Given the description of an element on the screen output the (x, y) to click on. 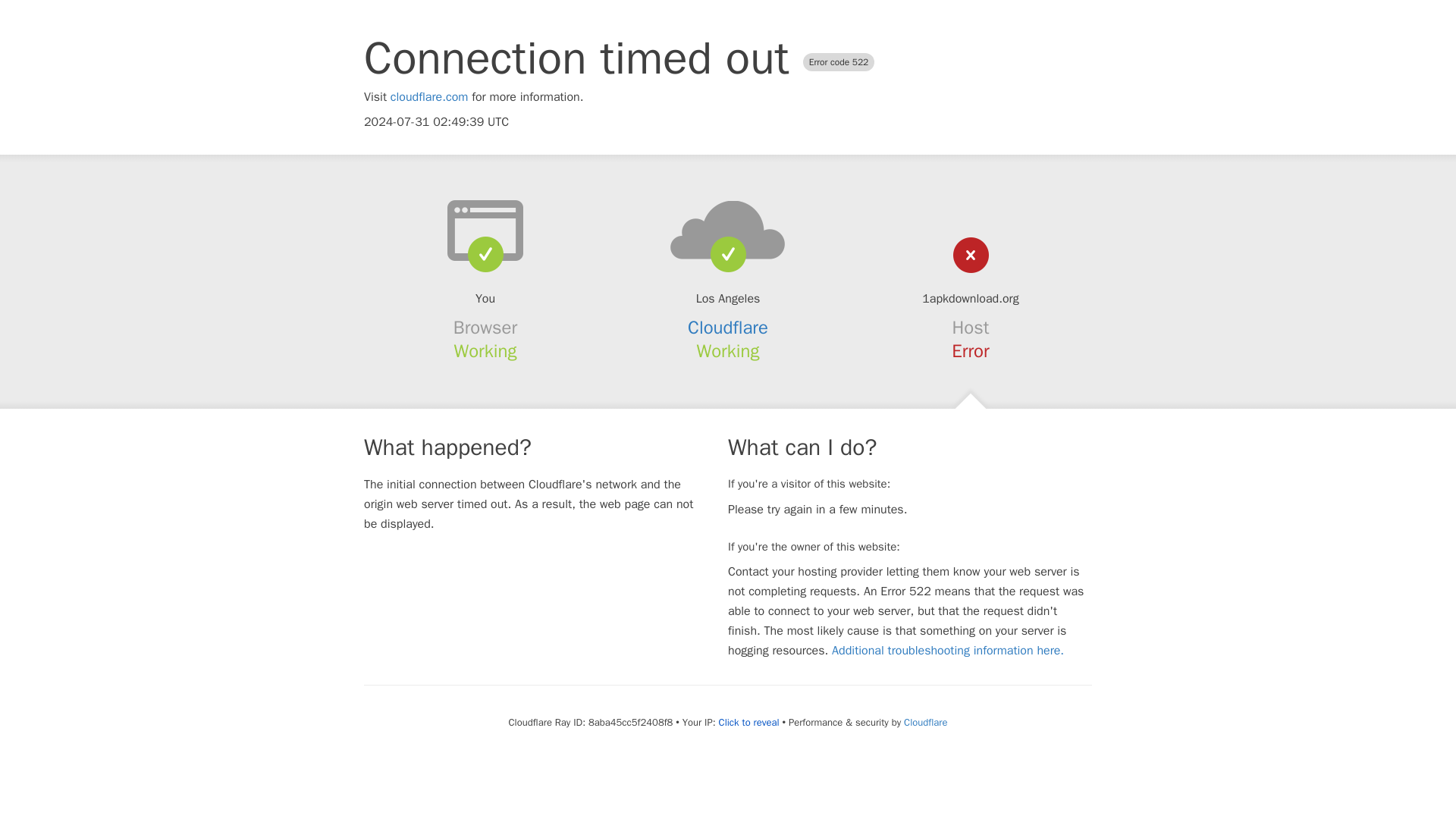
Cloudflare (727, 327)
Click to reveal (748, 722)
cloudflare.com (429, 96)
Cloudflare (925, 721)
Additional troubleshooting information here. (947, 650)
